Given the description of an element on the screen output the (x, y) to click on. 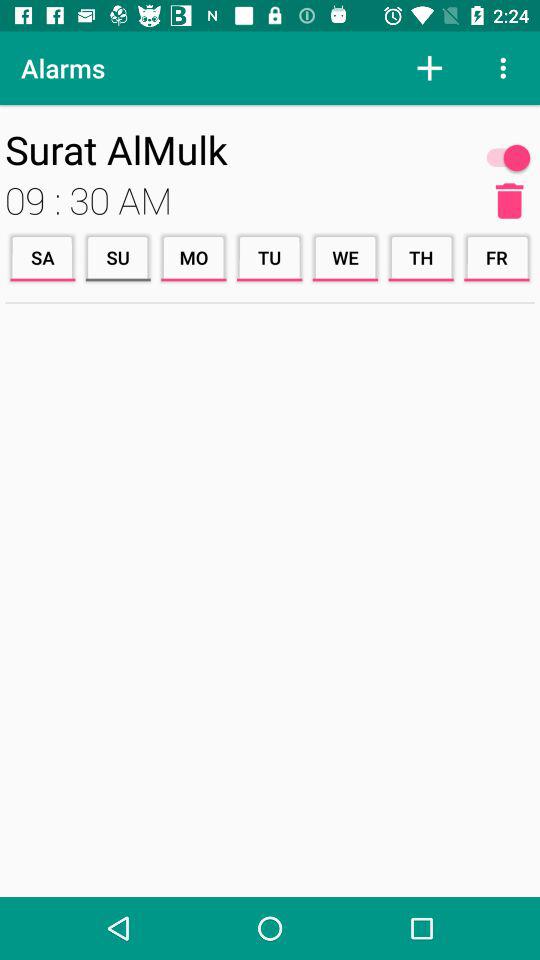
click the icon below 09 : 30 am (118, 257)
